Given the description of an element on the screen output the (x, y) to click on. 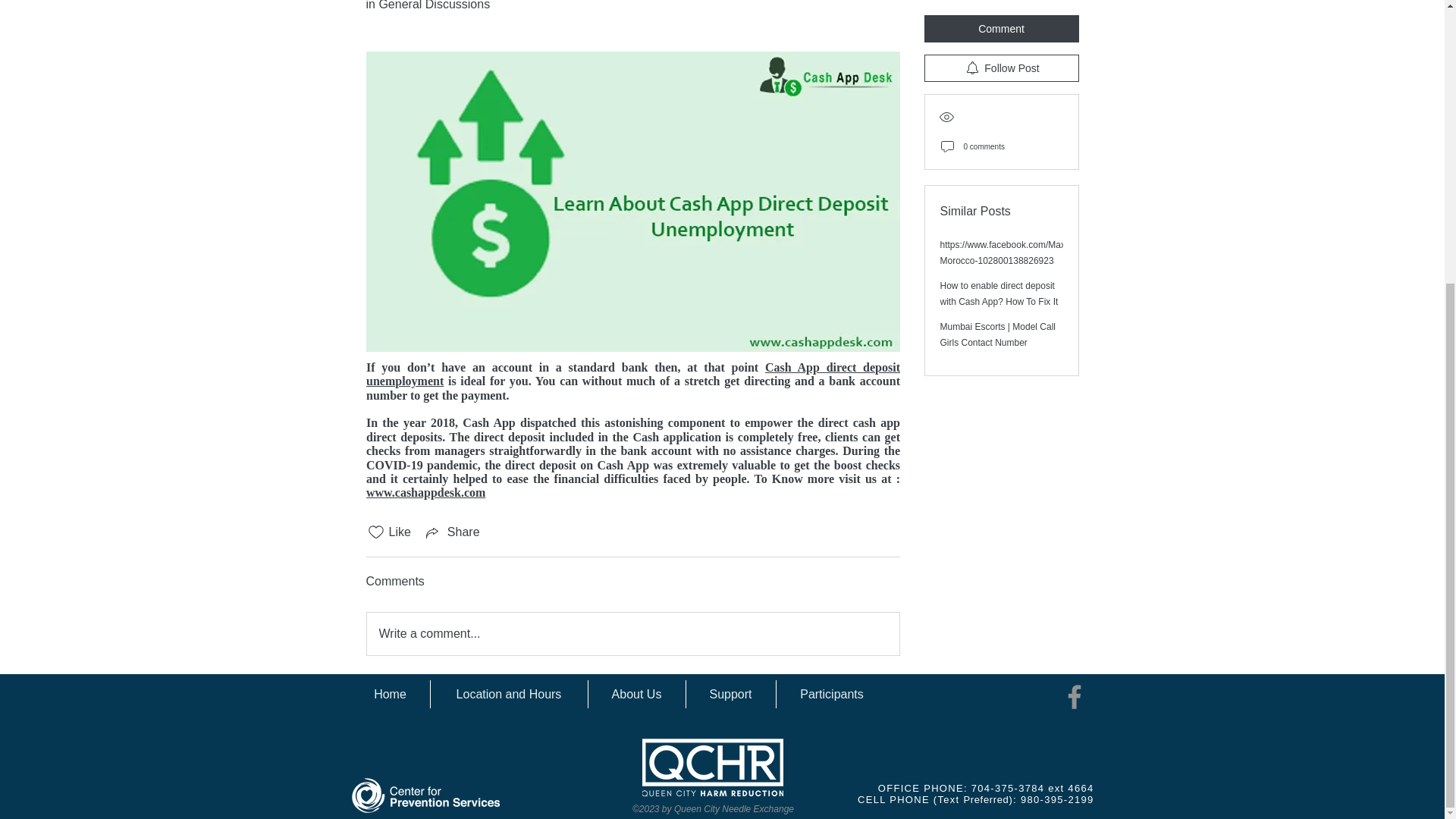
Share (451, 532)
Location and Hours (509, 694)
www.cashappdesk.com (424, 492)
Cash App direct deposit unemployment (633, 374)
About Us (636, 694)
How to enable direct deposit with Cash App? How To Fix It (999, 196)
in General Discussions (427, 5)
Home (389, 694)
Write a comment... (632, 633)
